Given the description of an element on the screen output the (x, y) to click on. 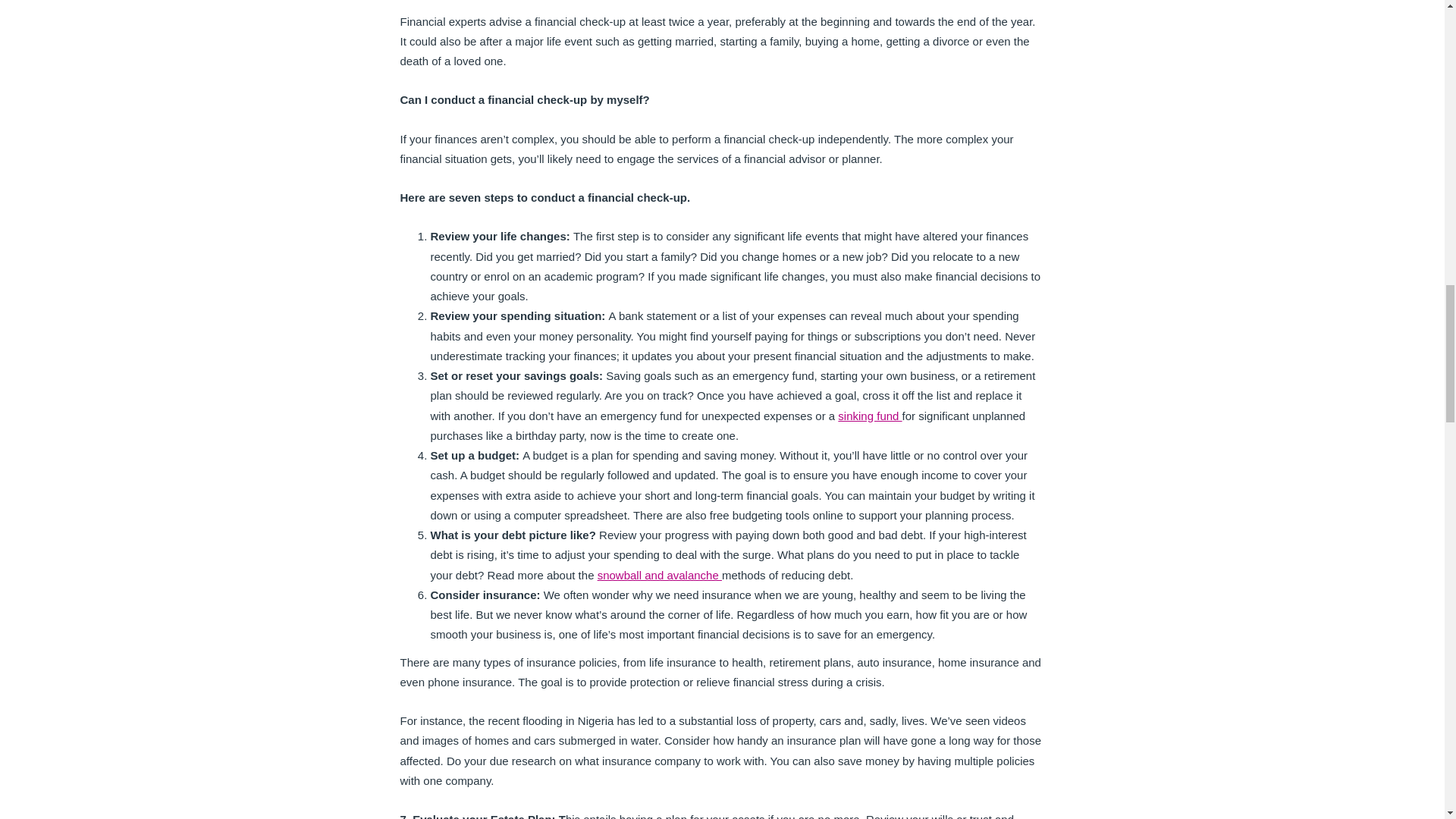
snowball and avalanche  (659, 574)
sinking fund  (869, 415)
